Given the description of an element on the screen output the (x, y) to click on. 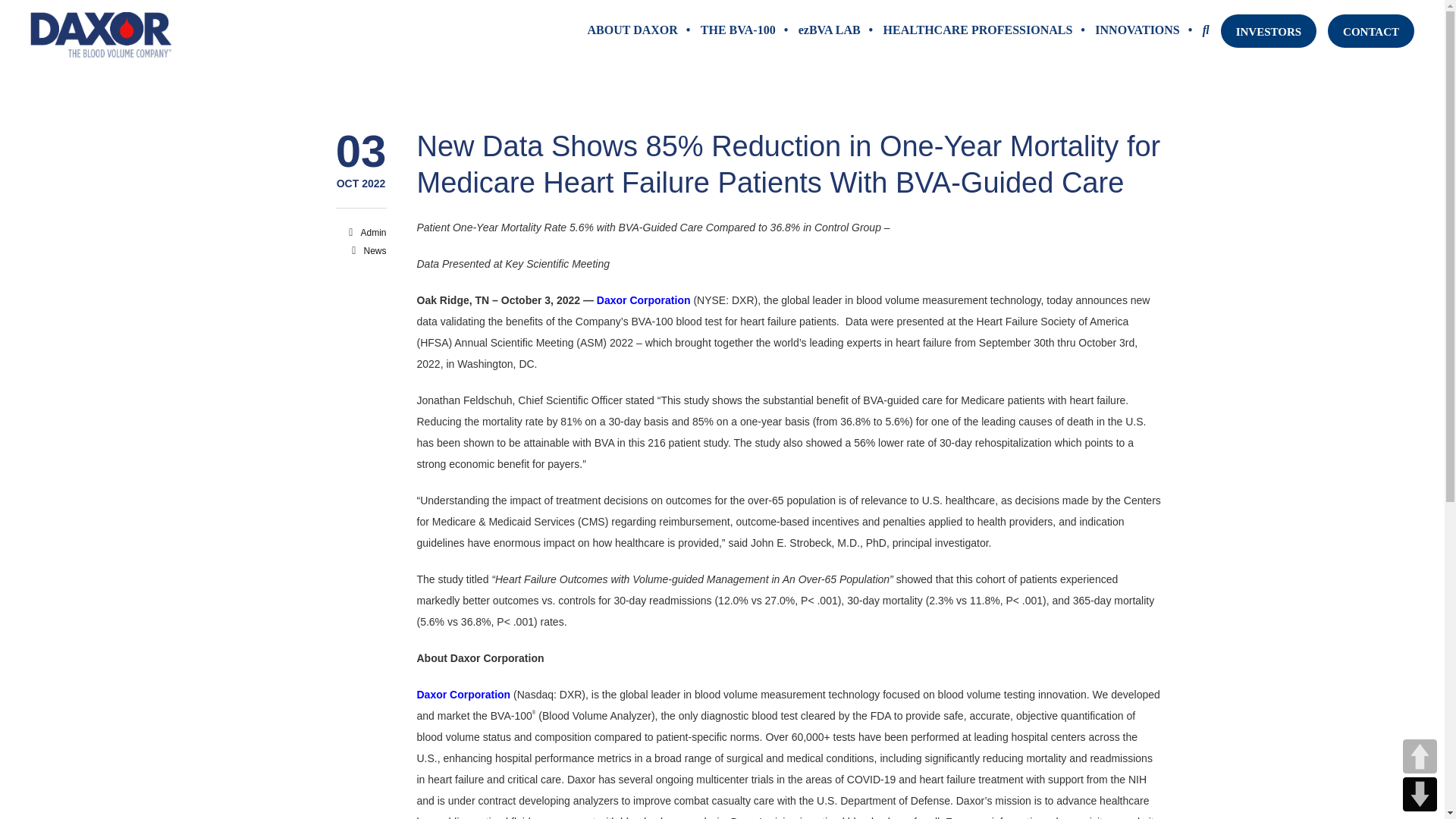
HEALTHCARE PROFESSIONALS (978, 30)
ezBVA LAB (829, 30)
THE BVA-100 (737, 30)
Posts by admin (372, 232)
INVESTORS (1268, 30)
ABOUT DAXOR (632, 30)
INNOVATIONS (1137, 30)
